Given the description of an element on the screen output the (x, y) to click on. 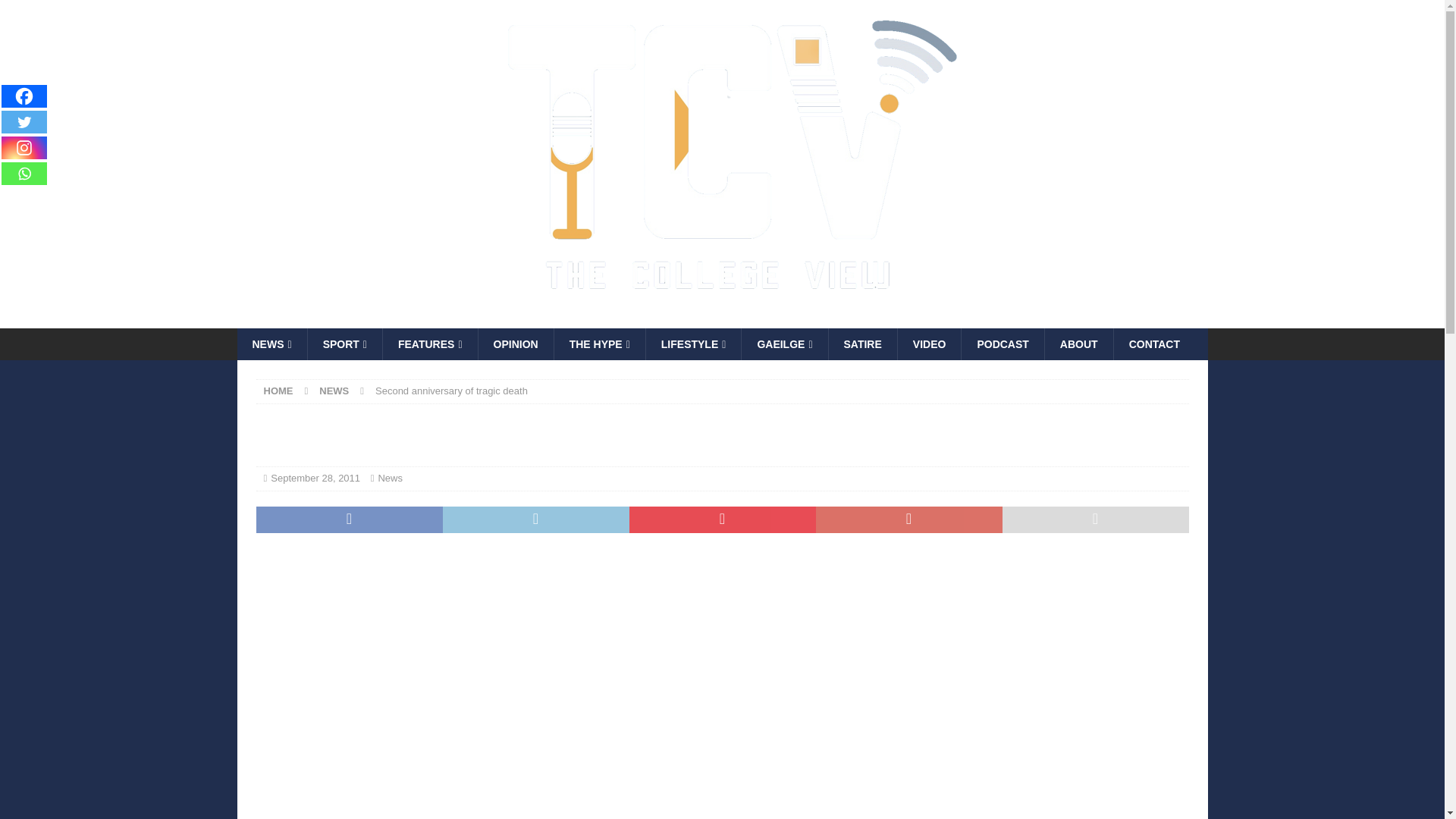
FEATURES (429, 344)
VIDEO (928, 344)
NEWS (270, 344)
SPORT (344, 344)
ABOUT (1078, 344)
September 28, 2011 (314, 478)
Twitter (23, 121)
Whatsapp (23, 173)
PODCAST (1001, 344)
HOME (278, 390)
SATIRE (862, 344)
Facebook (23, 96)
GAEILGE (784, 344)
CONTACT (1154, 344)
NEWS (333, 390)
